Given the description of an element on the screen output the (x, y) to click on. 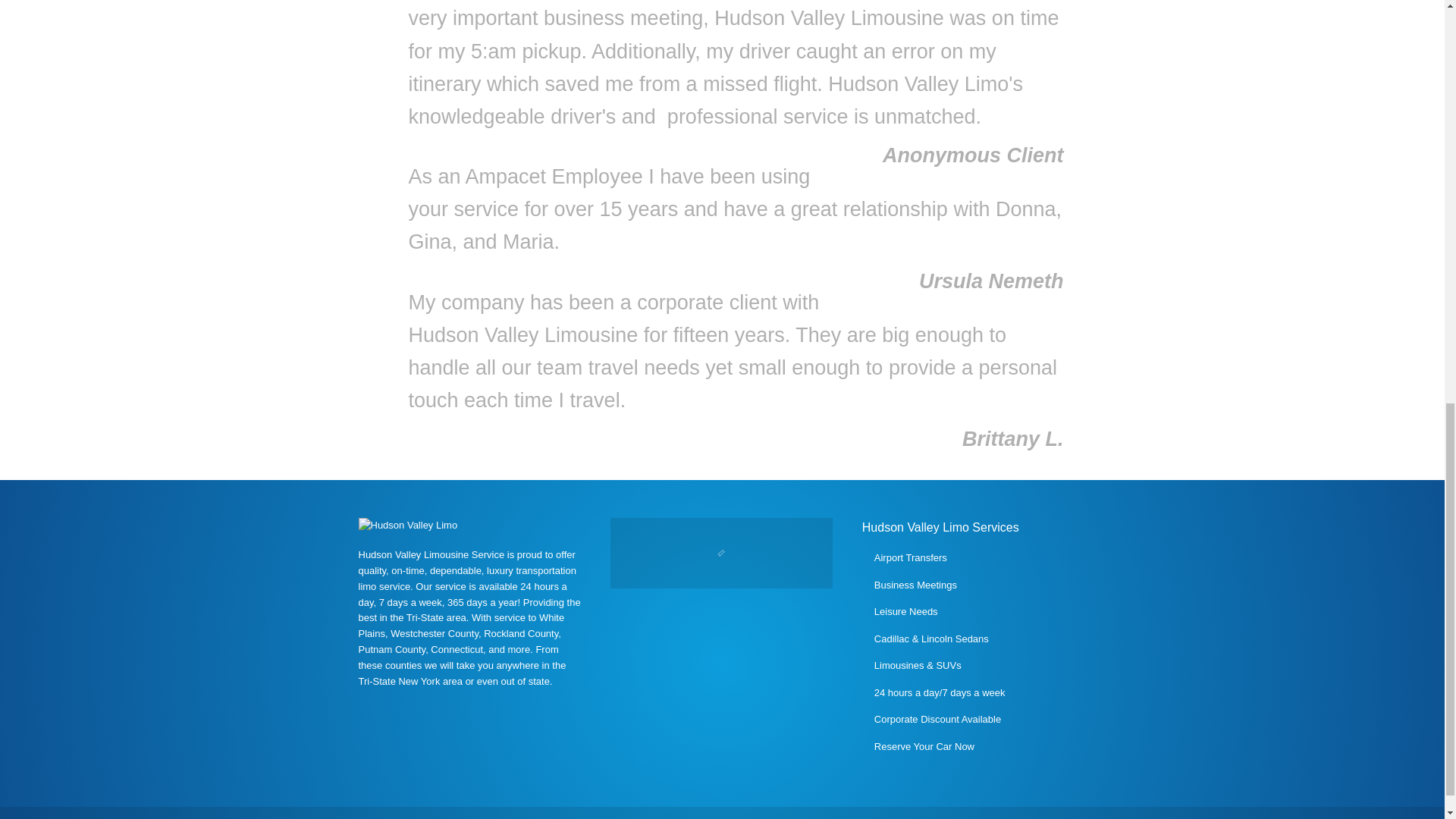
Reserve Your Car Now (924, 745)
